Given the description of an element on the screen output the (x, y) to click on. 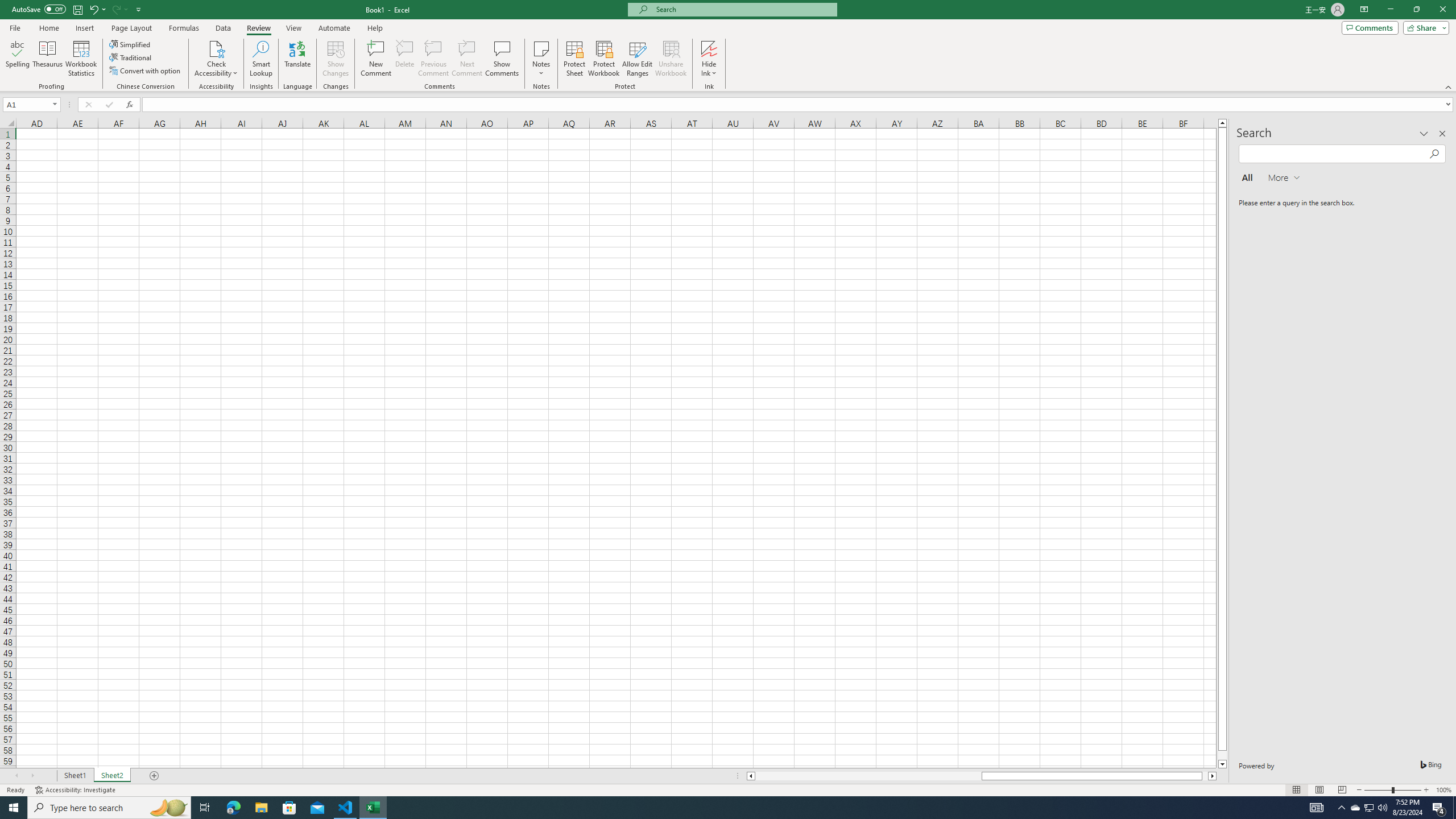
Accessibility Checker Accessibility: Investigate (76, 790)
